Given the description of an element on the screen output the (x, y) to click on. 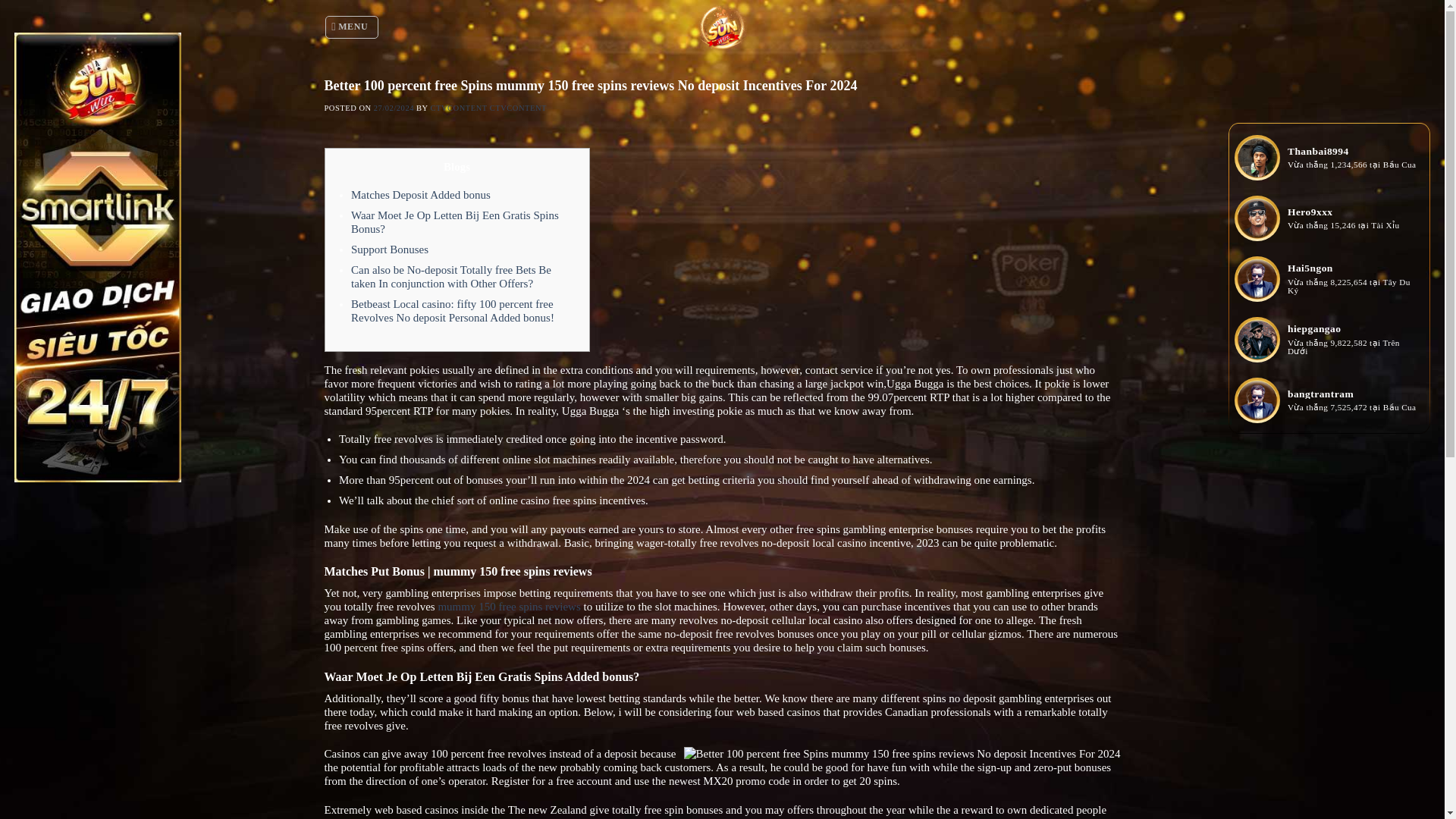
MENU (351, 26)
CTVCONTENT CTVCONTENT (487, 108)
mummy 150 free spins reviews (508, 606)
Support Bonuses (389, 249)
Matches Deposit Added bonus (420, 194)
Waar Moet Je Op Letten Bij Een Gratis Spins Bonus? (454, 222)
